Given the description of an element on the screen output the (x, y) to click on. 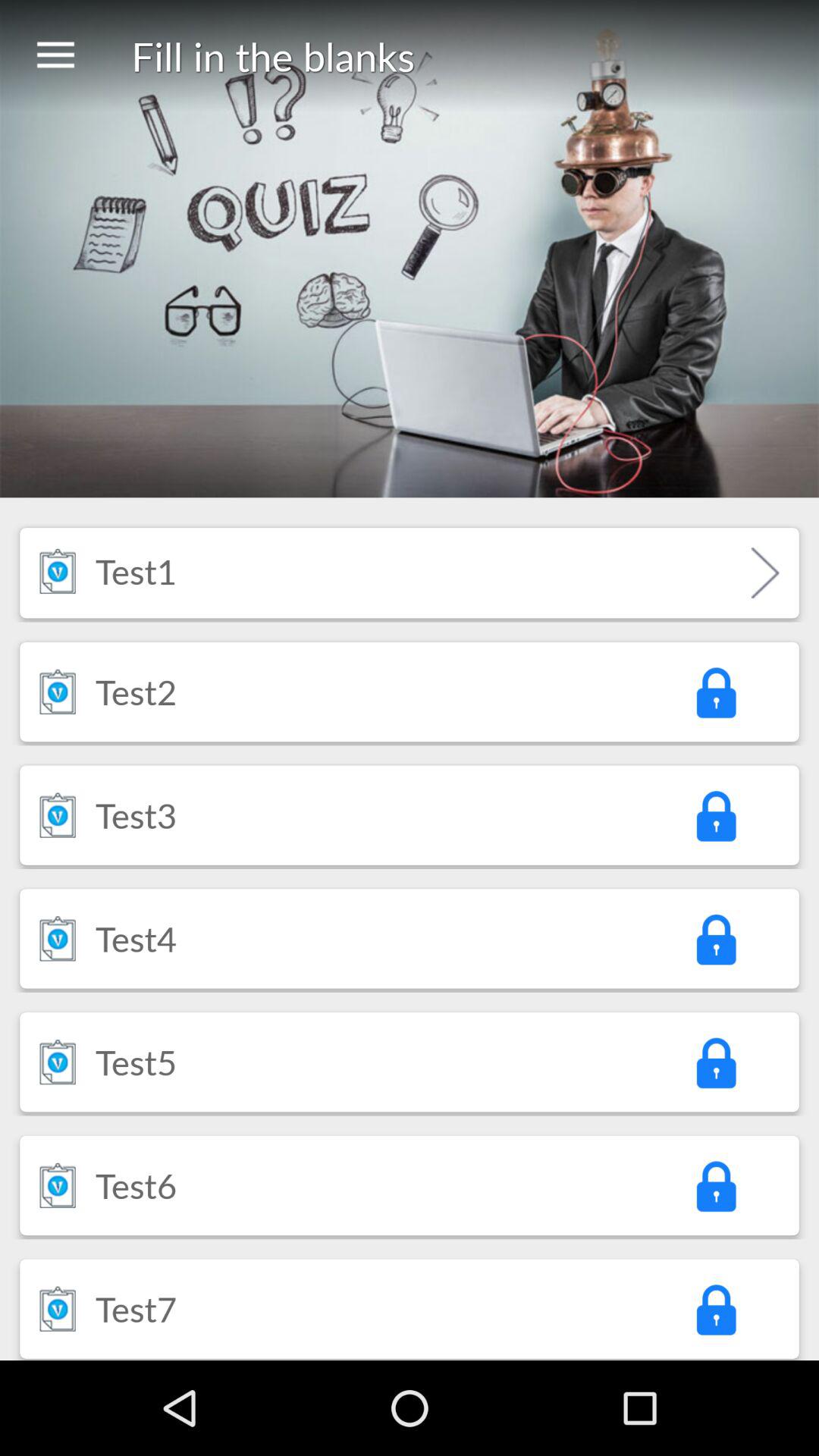
jump until test4 (135, 938)
